Given the description of an element on the screen output the (x, y) to click on. 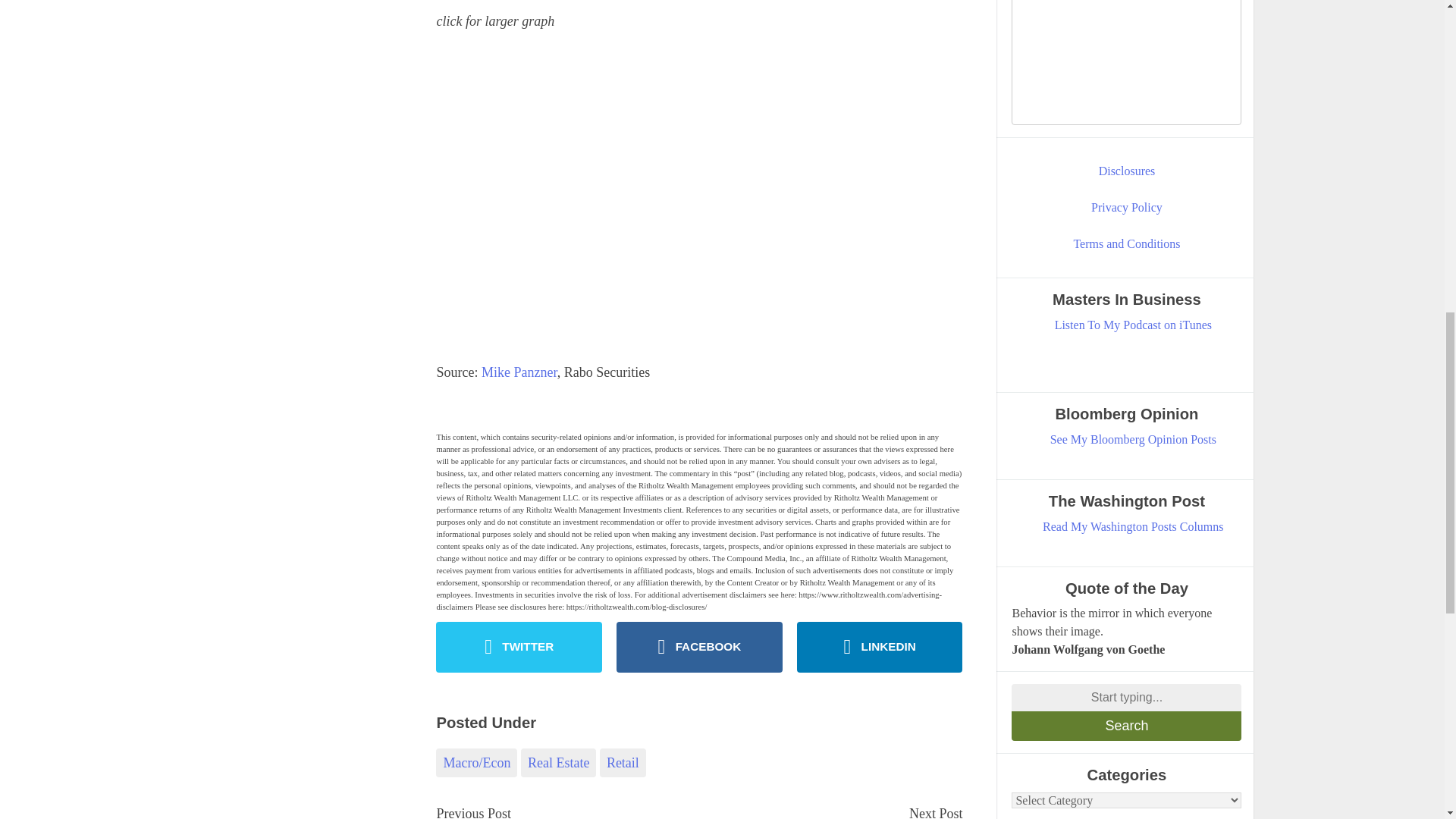
Read My Washington Posts Columns (1132, 526)
Privacy Policy (1126, 208)
Real Estate (558, 762)
LINKEDIN (879, 646)
See My Bloomberg Opinion Posts (1132, 439)
TWITTER (518, 646)
Listen To My Podcast on iTunes (1132, 325)
011006ritholtz (587, 196)
Retail (622, 762)
Search (1126, 726)
Search (1126, 726)
Search (1126, 726)
Mike Panzner (519, 372)
Disclosures (1126, 171)
Terms and Conditions (1126, 244)
